Given the description of an element on the screen output the (x, y) to click on. 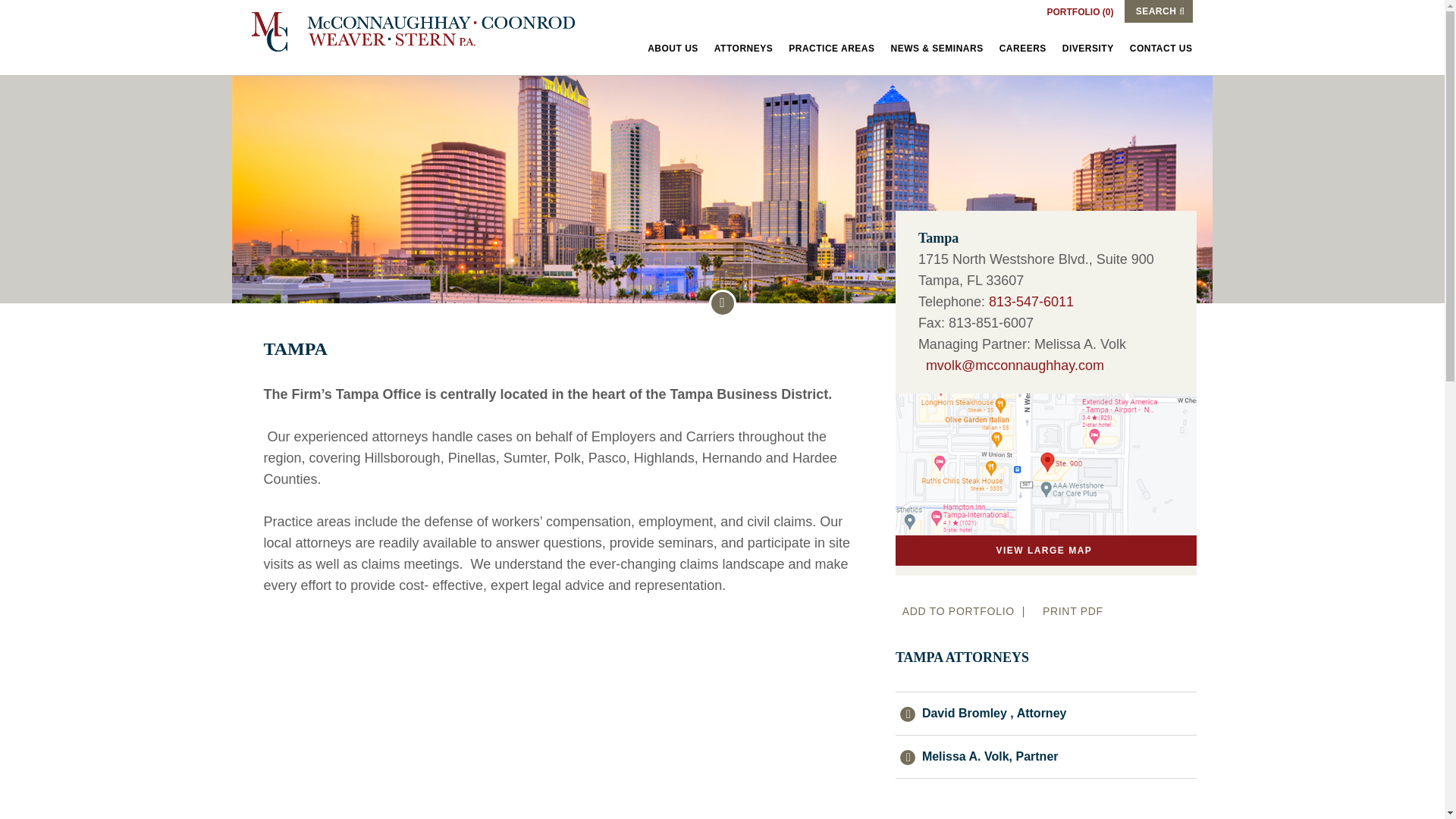
ABOUT US (672, 48)
ATTORNEYS (743, 48)
MCC (421, 31)
MCC (421, 31)
